Given the description of an element on the screen output the (x, y) to click on. 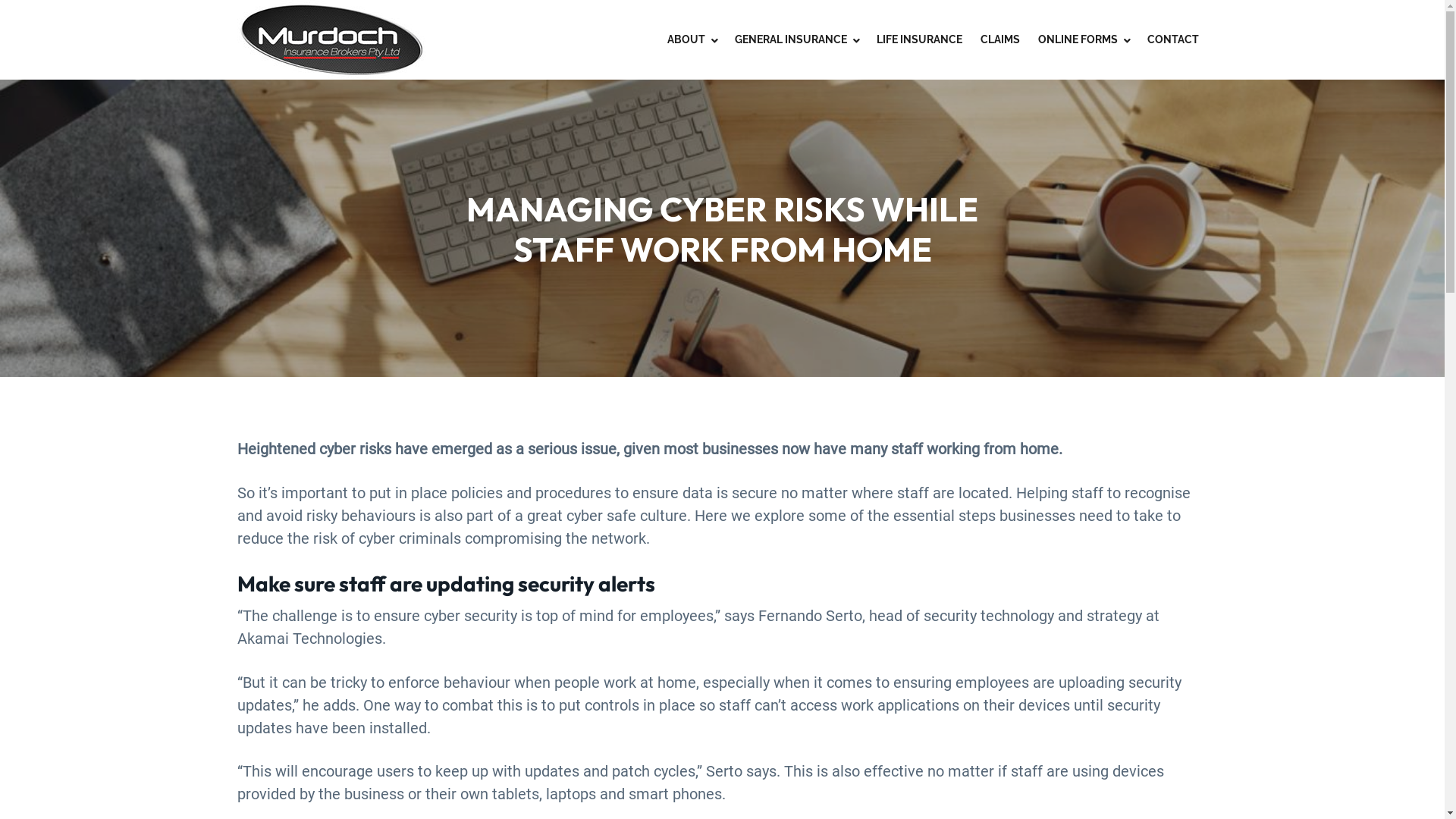
CONTACT Element type: text (1172, 39)
Skip to primary navigation Element type: text (0, 0)
MURDOCH INSURANCE BROKERS PTY LTD Element type: text (376, 85)
CLAIMS Element type: text (999, 39)
LIFE INSURANCE Element type: text (919, 39)
